Given the description of an element on the screen output the (x, y) to click on. 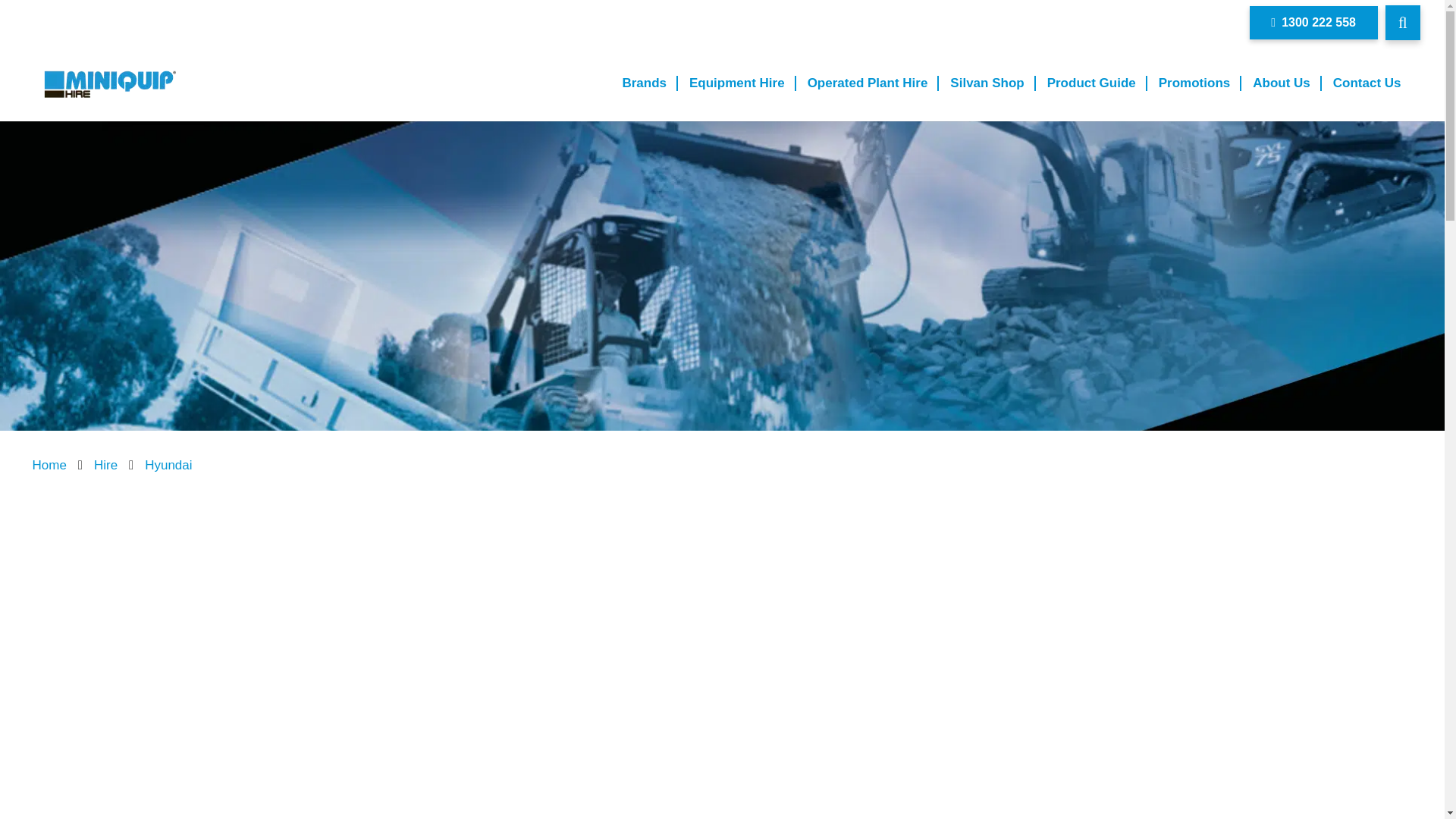
Hire (105, 464)
Hyundai (168, 464)
Brands (644, 83)
1300 222 558 (1313, 22)
About Us (1281, 83)
Promotions (1194, 83)
Product Guide (1091, 83)
Operated Plant Hire (867, 83)
Home (48, 464)
Equipment Hire (737, 83)
Silvan Shop (987, 83)
Contact Us (1367, 83)
